Given the description of an element on the screen output the (x, y) to click on. 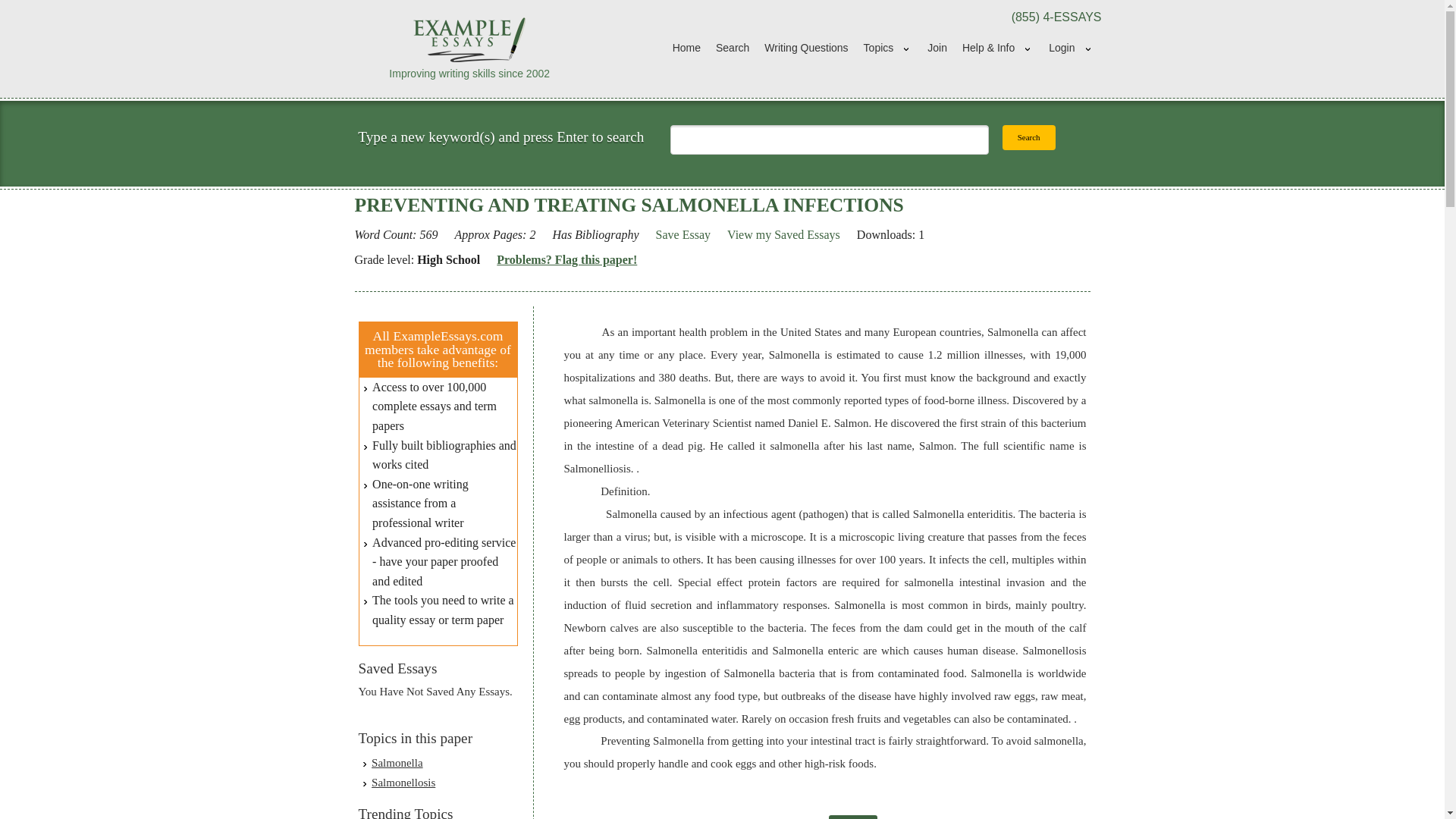
Home (686, 48)
Problems? Flag this paper! (566, 260)
Login (1070, 48)
Writing Questions (806, 48)
Search (1029, 137)
Save Essay (683, 234)
Search (732, 48)
Salmonellosis (403, 782)
Join (937, 48)
Click here to save this paper for future access (683, 234)
